Given the description of an element on the screen output the (x, y) to click on. 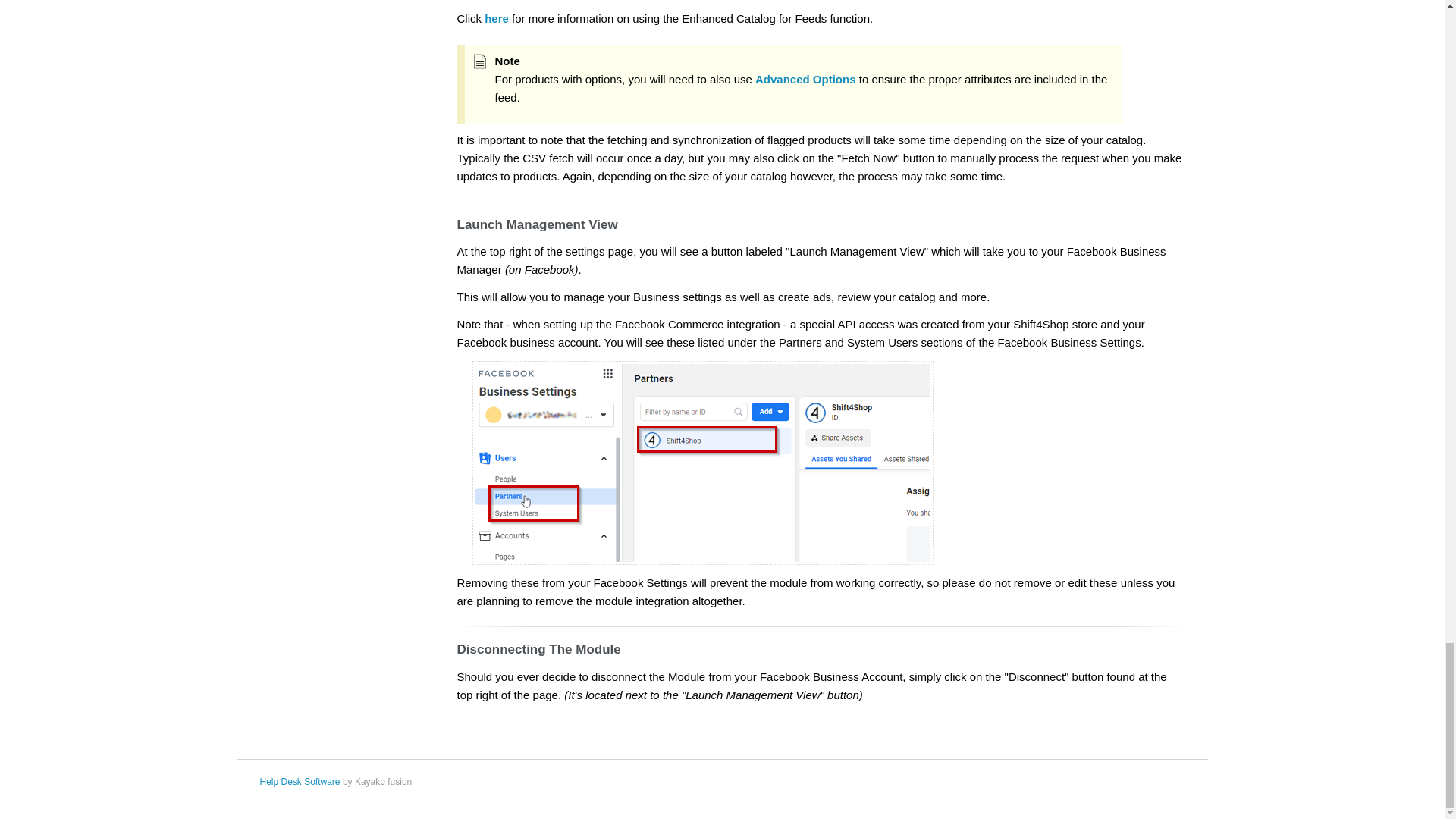
Help Desk Software (299, 781)
here (496, 18)
Advanced Options (805, 78)
